Given the description of an element on the screen output the (x, y) to click on. 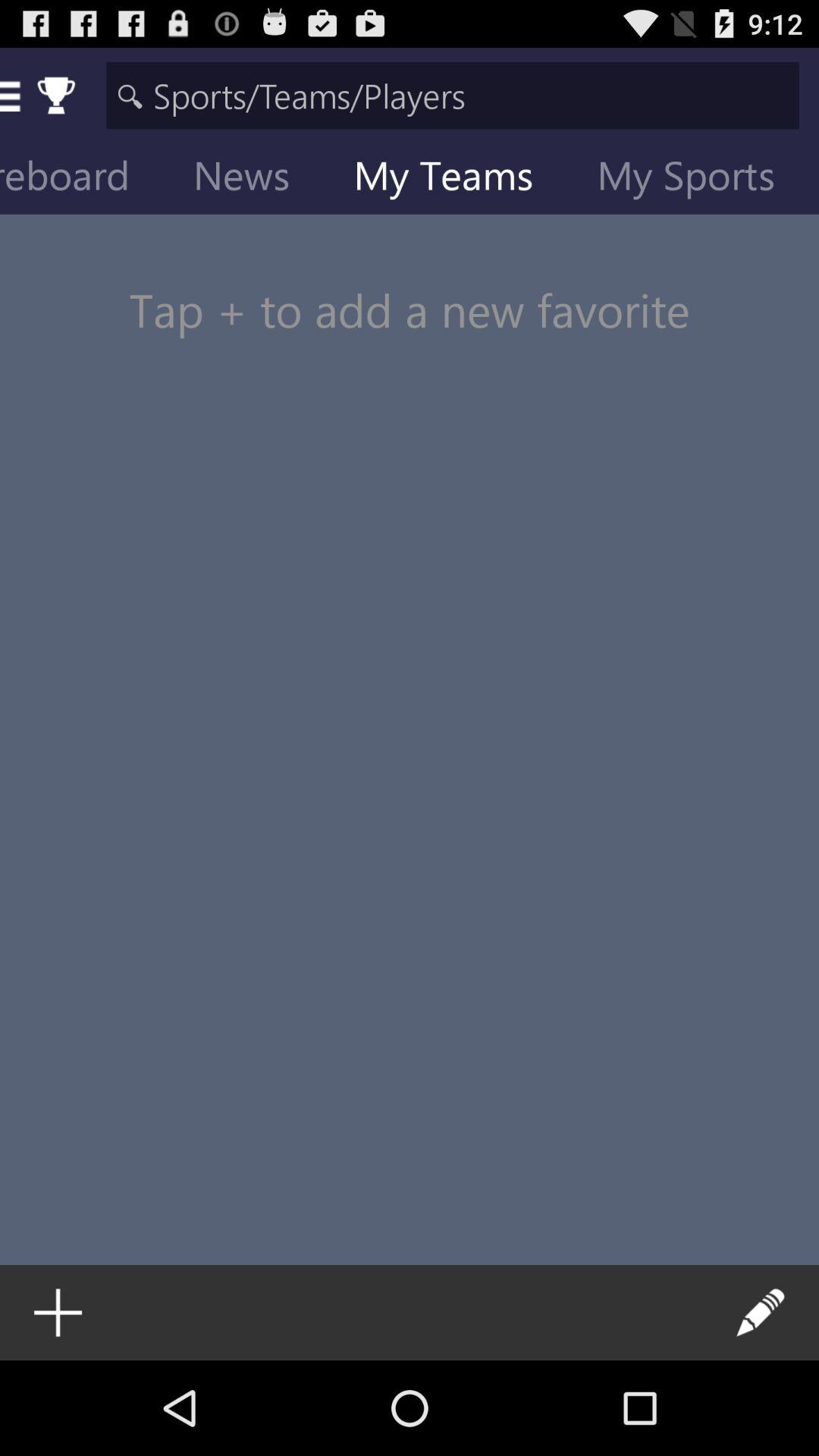
scroll until the my sports item (698, 178)
